Given the description of an element on the screen output the (x, y) to click on. 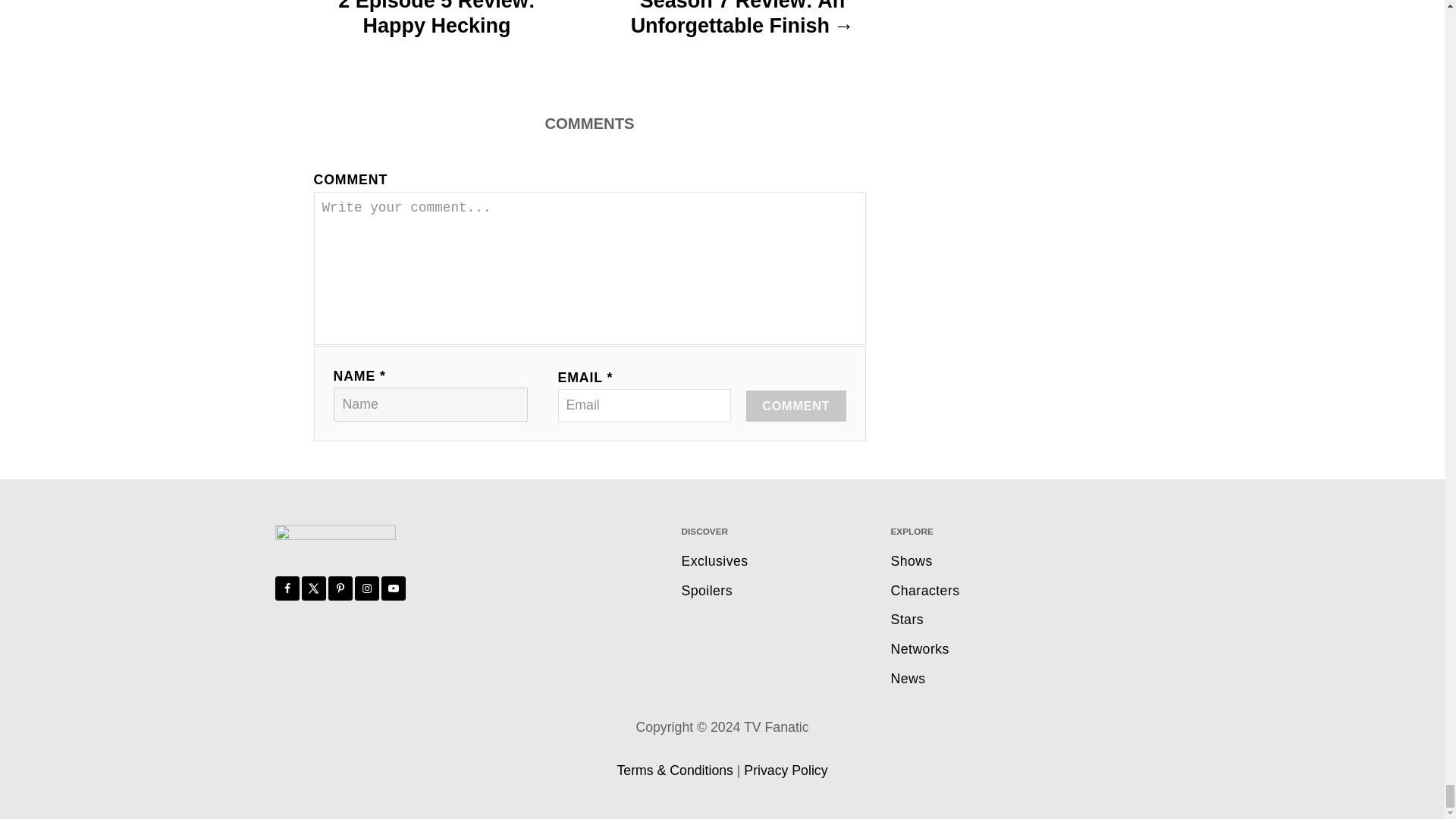
Follow on Facebook (286, 588)
